Given the description of an element on the screen output the (x, y) to click on. 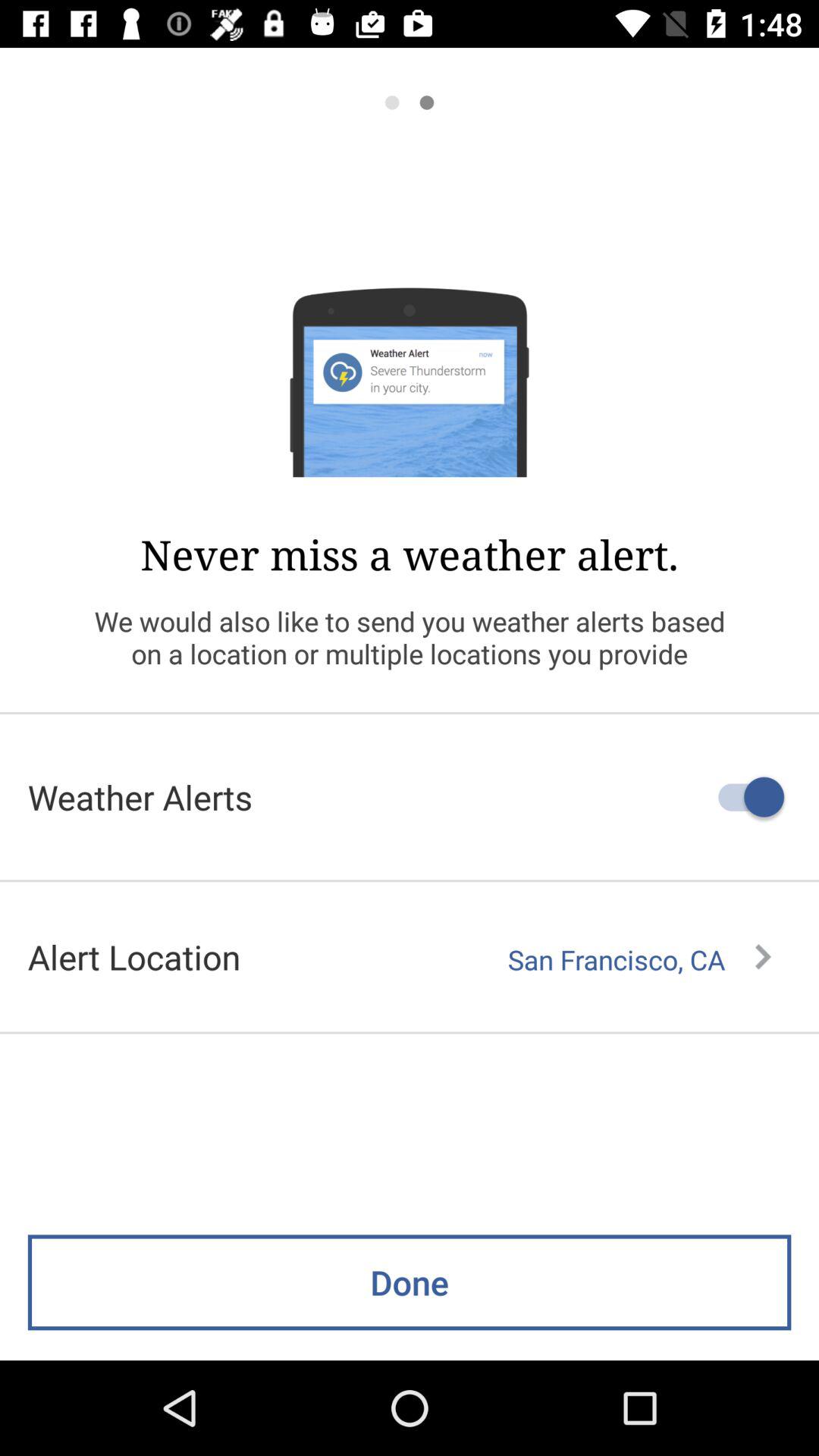
click item next to alert location (639, 959)
